Given the description of an element on the screen output the (x, y) to click on. 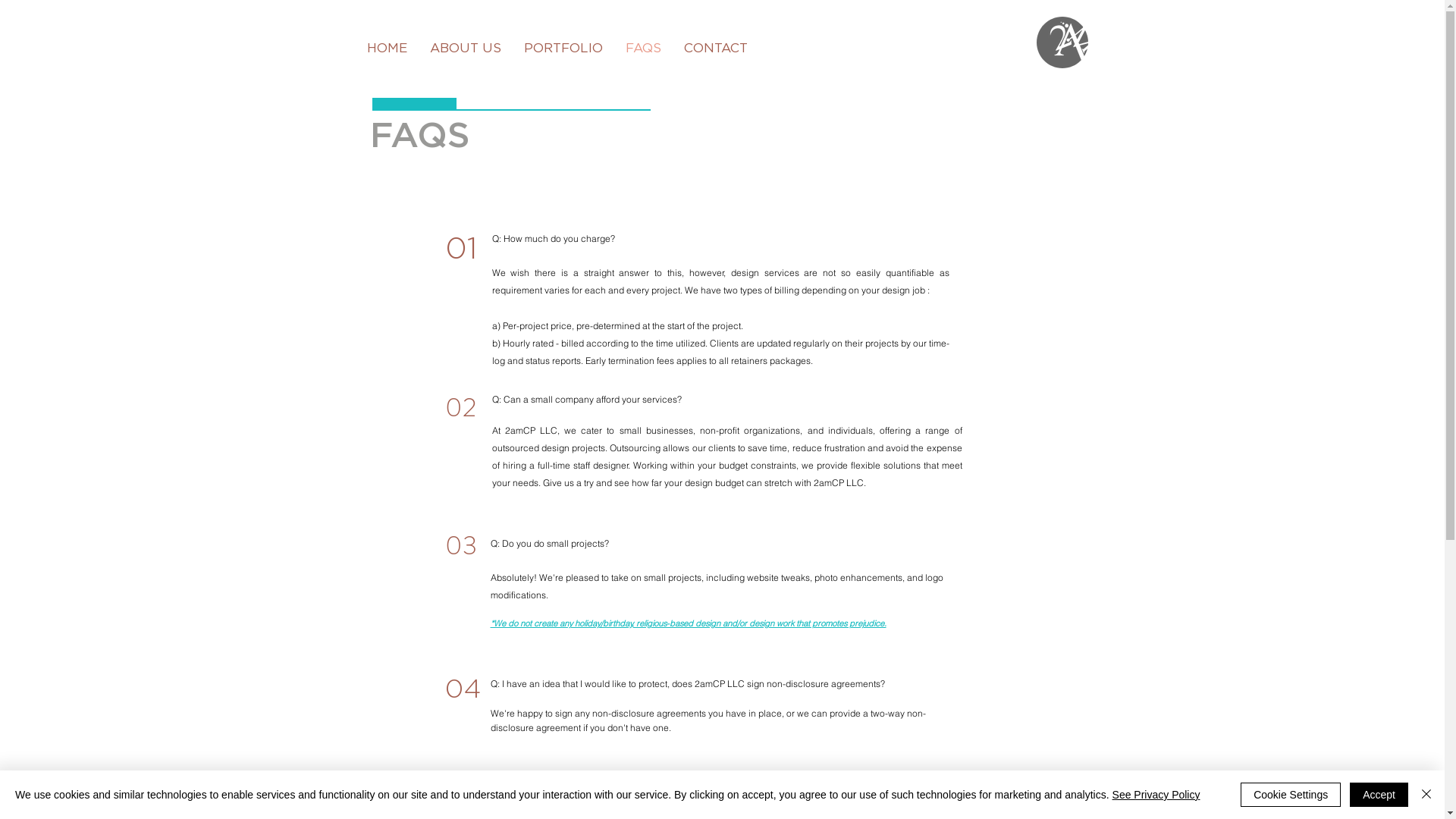
Accept Element type: text (1378, 794)
CONTACT Element type: text (714, 48)
ABOUT US Element type: text (465, 48)
See Privacy Policy Element type: text (1156, 794)
Cookie Settings Element type: text (1290, 794)
PORTFOLIO Element type: text (563, 48)
HOME Element type: text (385, 48)
FAQS Element type: text (643, 48)
